Given the description of an element on the screen output the (x, y) to click on. 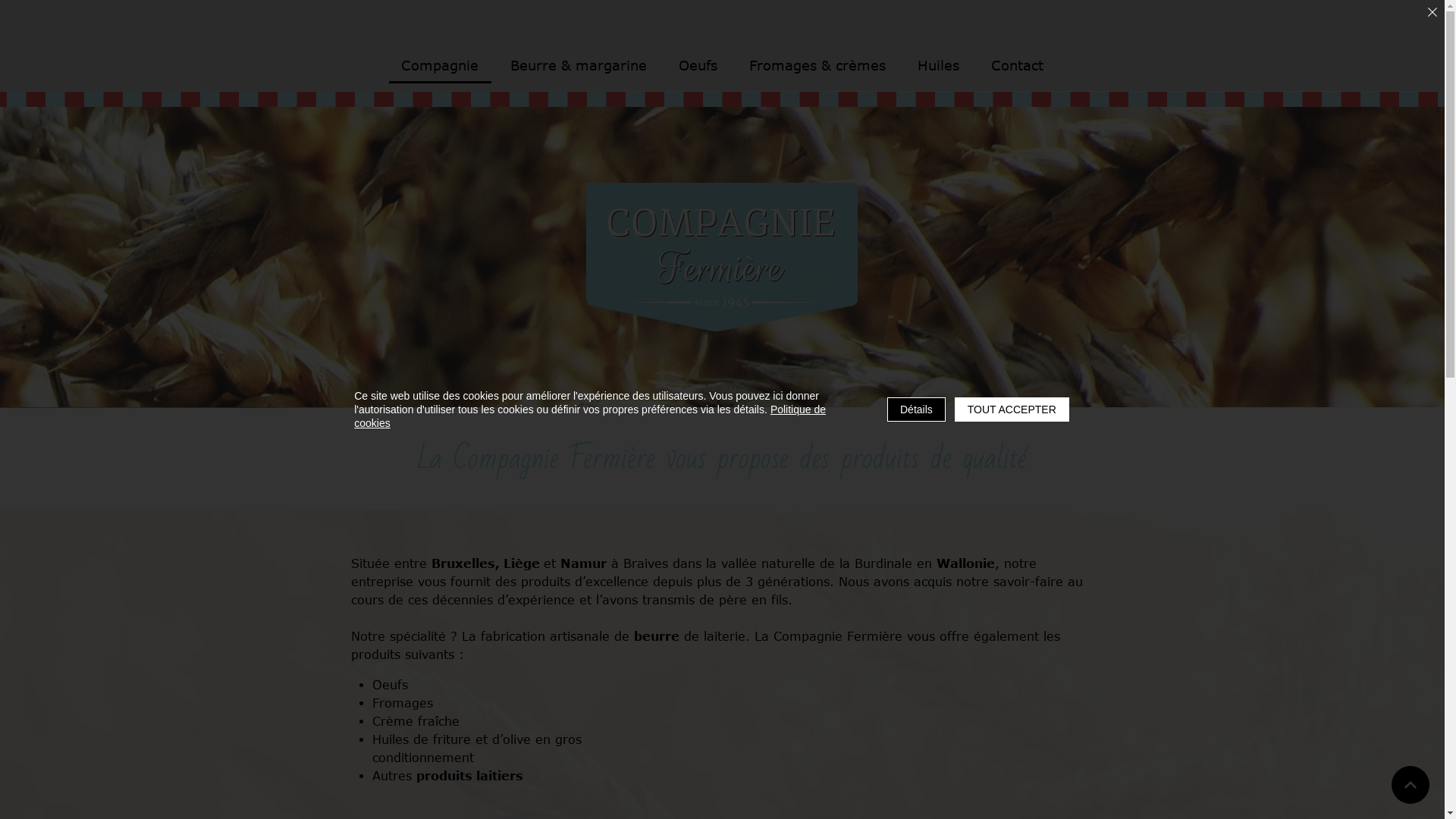
Oeufs Element type: text (697, 66)
Beurre & margarine Element type: text (578, 66)
Politique de cookies Element type: text (589, 416)
Compagnie Element type: text (439, 66)
Contact Element type: text (1017, 66)
Huiles Element type: text (938, 66)
TOUT ACCEPTER Element type: text (1011, 409)
